Given the description of an element on the screen output the (x, y) to click on. 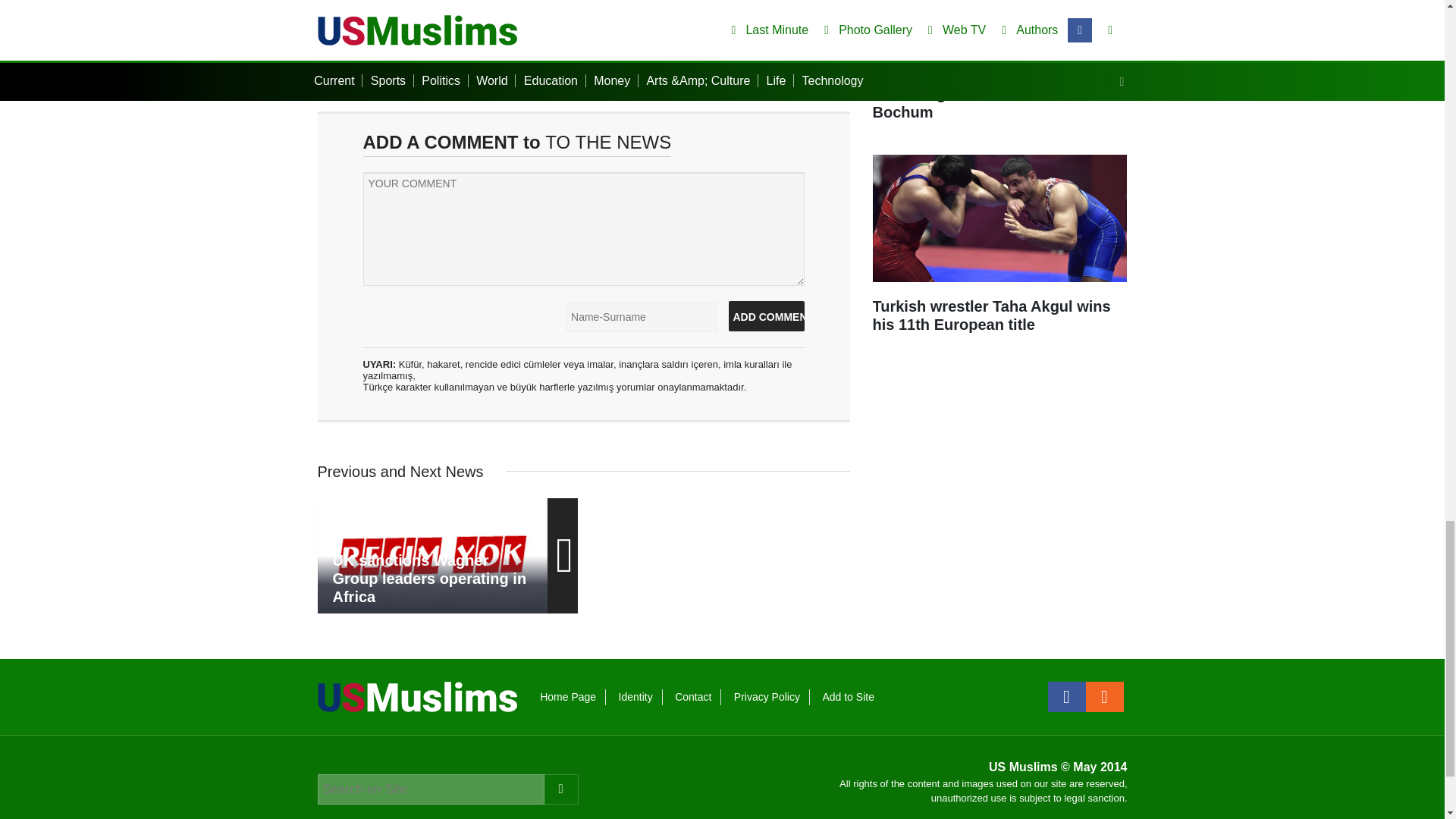
Home Page (567, 696)
ADD COMMENT (765, 316)
Turkish wrestler Taha Akgul wins his 11th European title (999, 251)
UK sanctions Wagner Group leaders operating in Africa (432, 555)
ADD COMMENT (765, 316)
Identity (635, 696)
Home Page (567, 696)
US Muslims (416, 695)
